Given the description of an element on the screen output the (x, y) to click on. 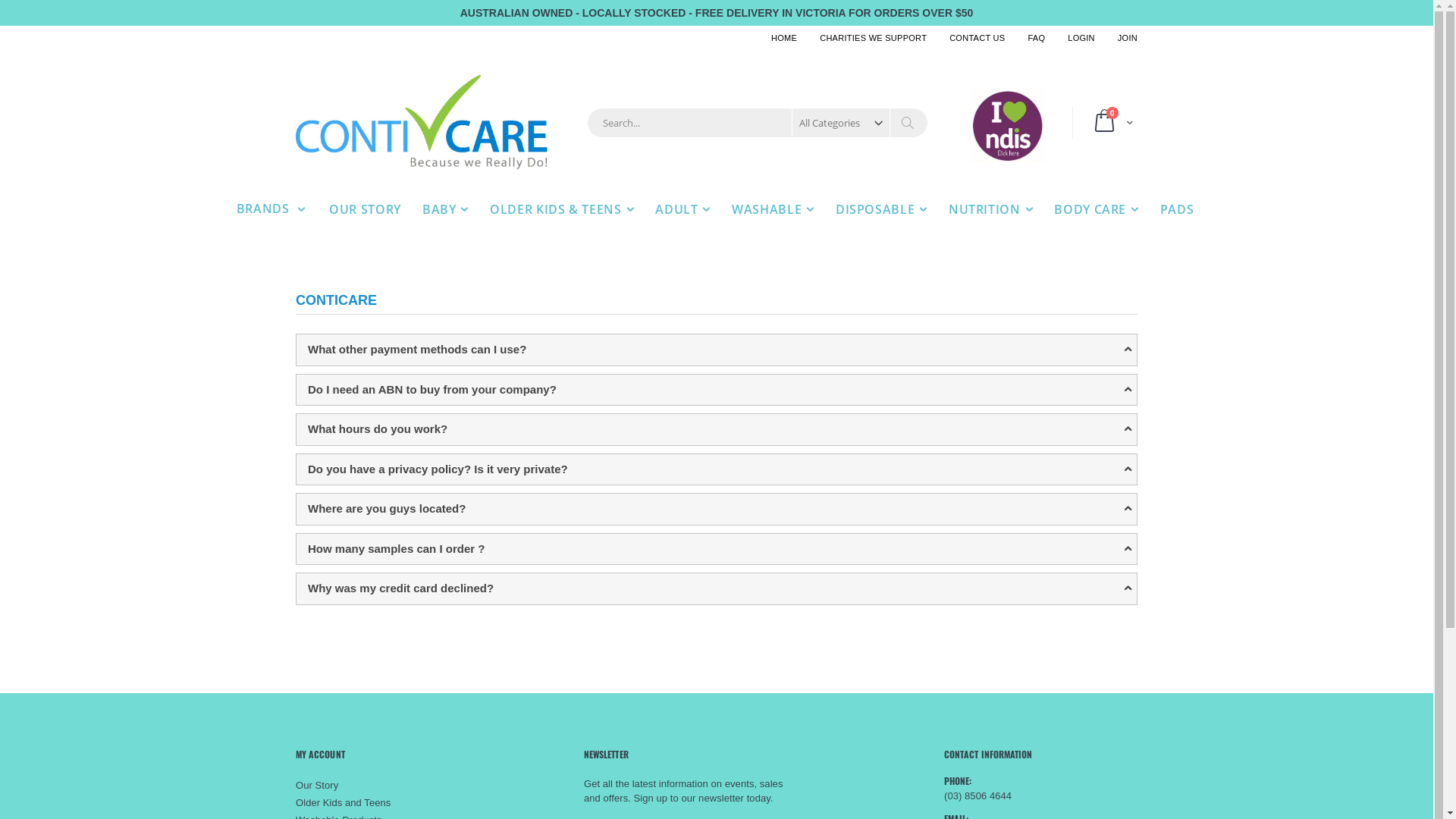
Older Kids and Teens Element type: text (342, 802)
ADULT Element type: text (682, 208)
WASHABLE Element type: text (772, 208)
(03) 8506 4644 Element type: text (977, 795)
Search Element type: text (906, 122)
LOGIN Element type: text (1081, 37)
Our Story Element type: text (316, 784)
BODY CARE Element type: text (1095, 208)
OLDER KIDS & TEENS Element type: text (561, 208)
NUTRITION Element type: text (990, 208)
DISPOSABLE Element type: text (881, 208)
BABY Element type: text (445, 208)
OUR STORY Element type: text (365, 208)
HOME Element type: text (783, 37)
PADS Element type: text (1177, 208)
BRANDS Element type: text (270, 208)
FAQ Element type: text (1036, 37)
CONTACT US Element type: text (977, 37)
CHARITIES WE SUPPORT Element type: text (873, 37)
Cart
0 Element type: text (1110, 122)
JOIN Element type: text (1121, 37)
